Given the description of an element on the screen output the (x, y) to click on. 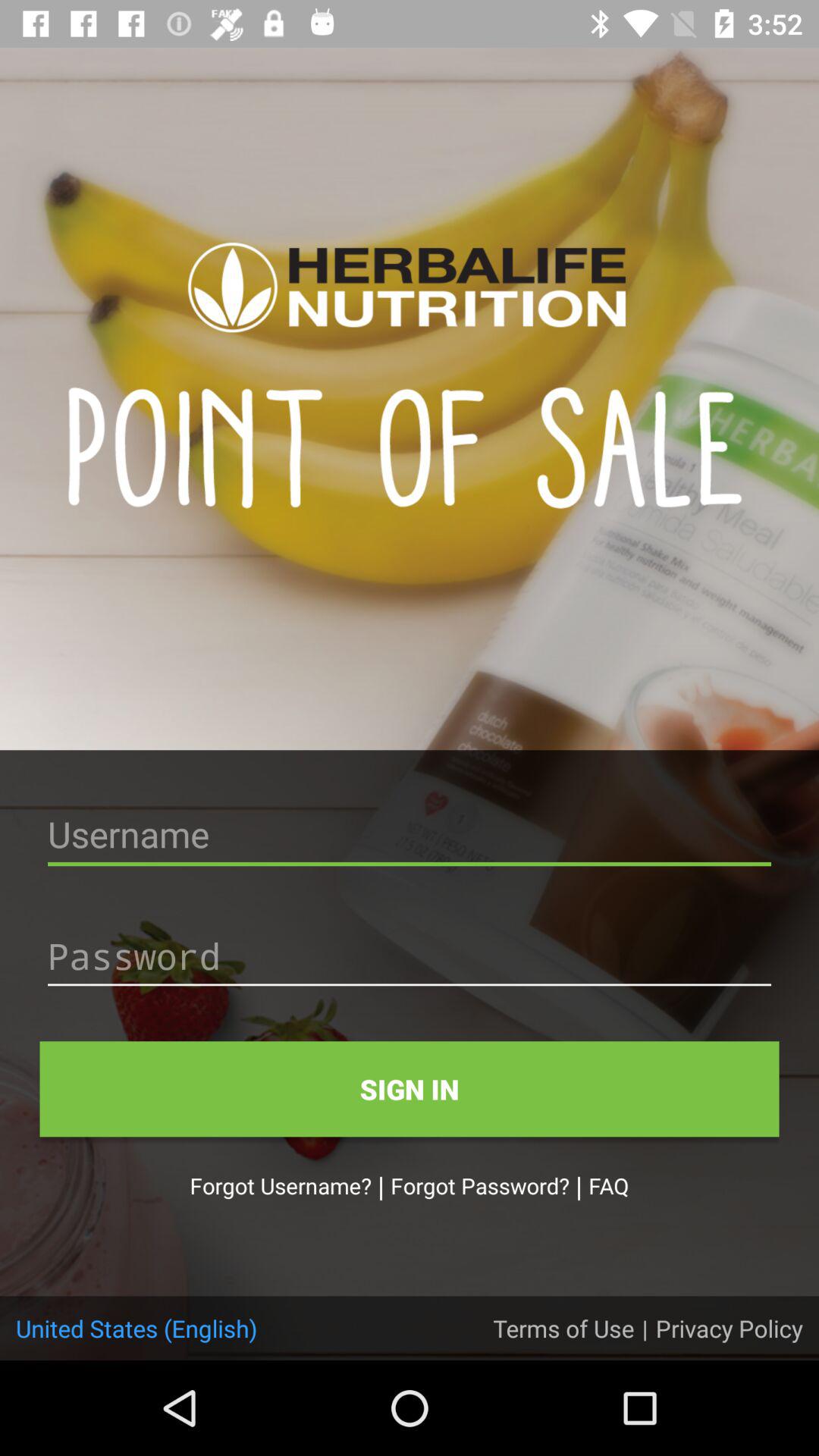
turn off icon above terms of use icon (608, 1185)
